Given the description of an element on the screen output the (x, y) to click on. 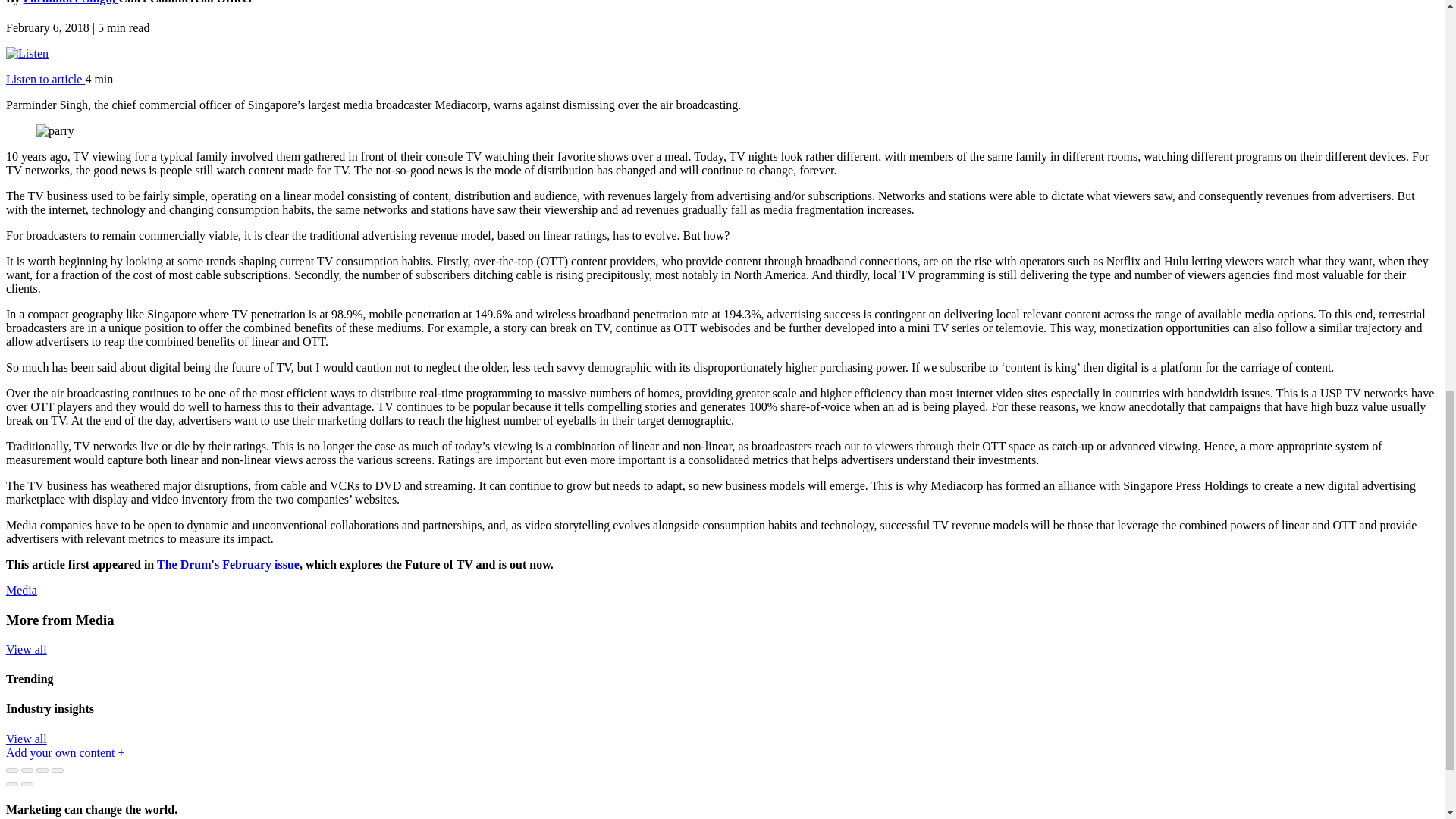
Media (21, 590)
Listen to article (44, 78)
View all (25, 738)
The Drum's February issue (228, 563)
View all (25, 649)
Toggle fullscreen (42, 770)
Share (27, 770)
Parminder Singh, (71, 2)
parry (55, 131)
